Given the description of an element on the screen output the (x, y) to click on. 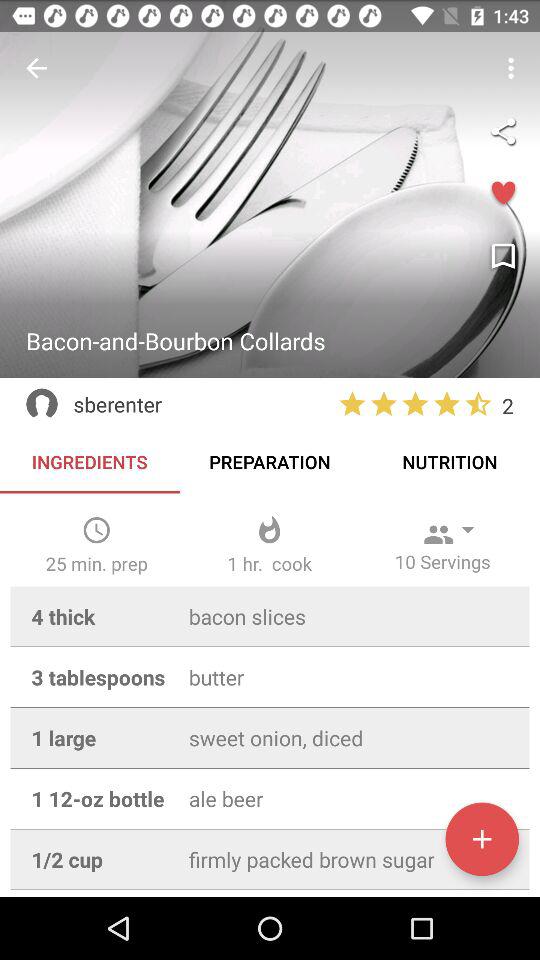
image save (503, 257)
